Given the description of an element on the screen output the (x, y) to click on. 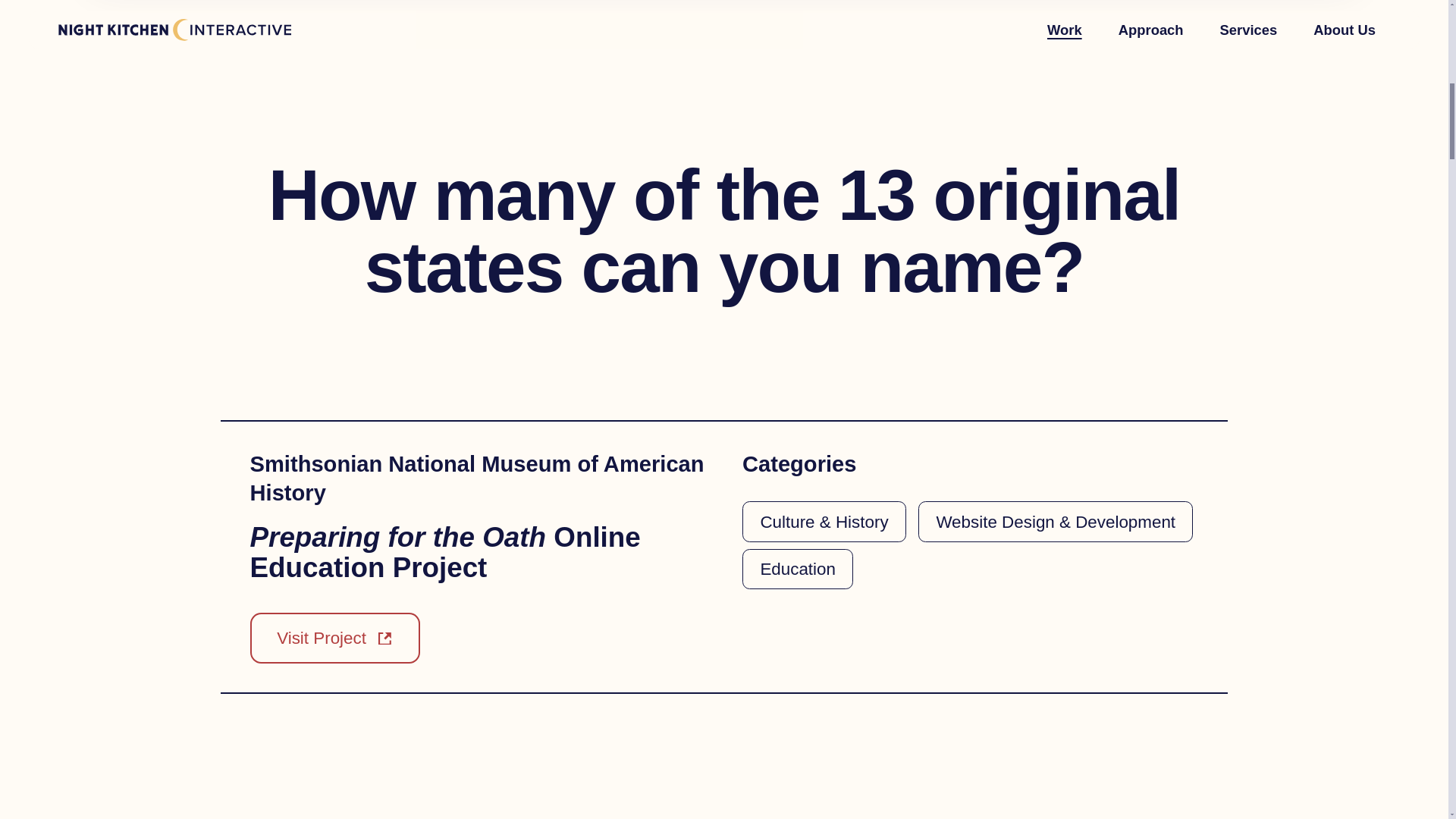
Smithsonian National Museum of American History (478, 478)
Visit Project (335, 637)
Education (797, 568)
